Given the description of an element on the screen output the (x, y) to click on. 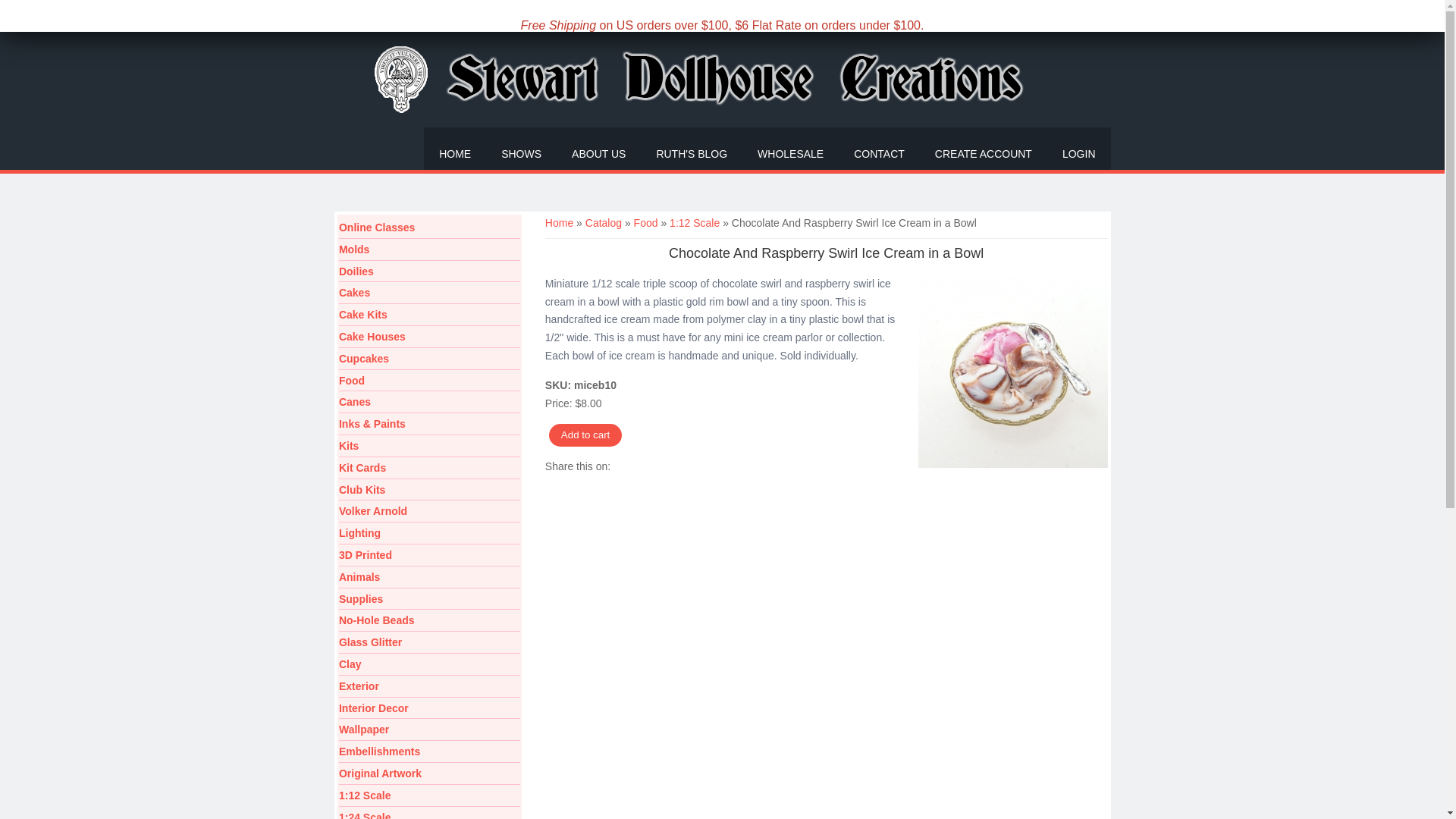
Lighting (429, 534)
Catalog (603, 223)
Supplies (429, 599)
RUTH'S BLOG (691, 148)
CREATE ACCOUNT (983, 148)
Cupcakes (429, 359)
Add to cart (584, 434)
Cakes (429, 293)
Food (429, 381)
Molds (429, 250)
Cake Kits (429, 315)
No-Hole Beads (429, 620)
Kits (429, 446)
HOME (454, 148)
Doilies (429, 272)
